Given the description of an element on the screen output the (x, y) to click on. 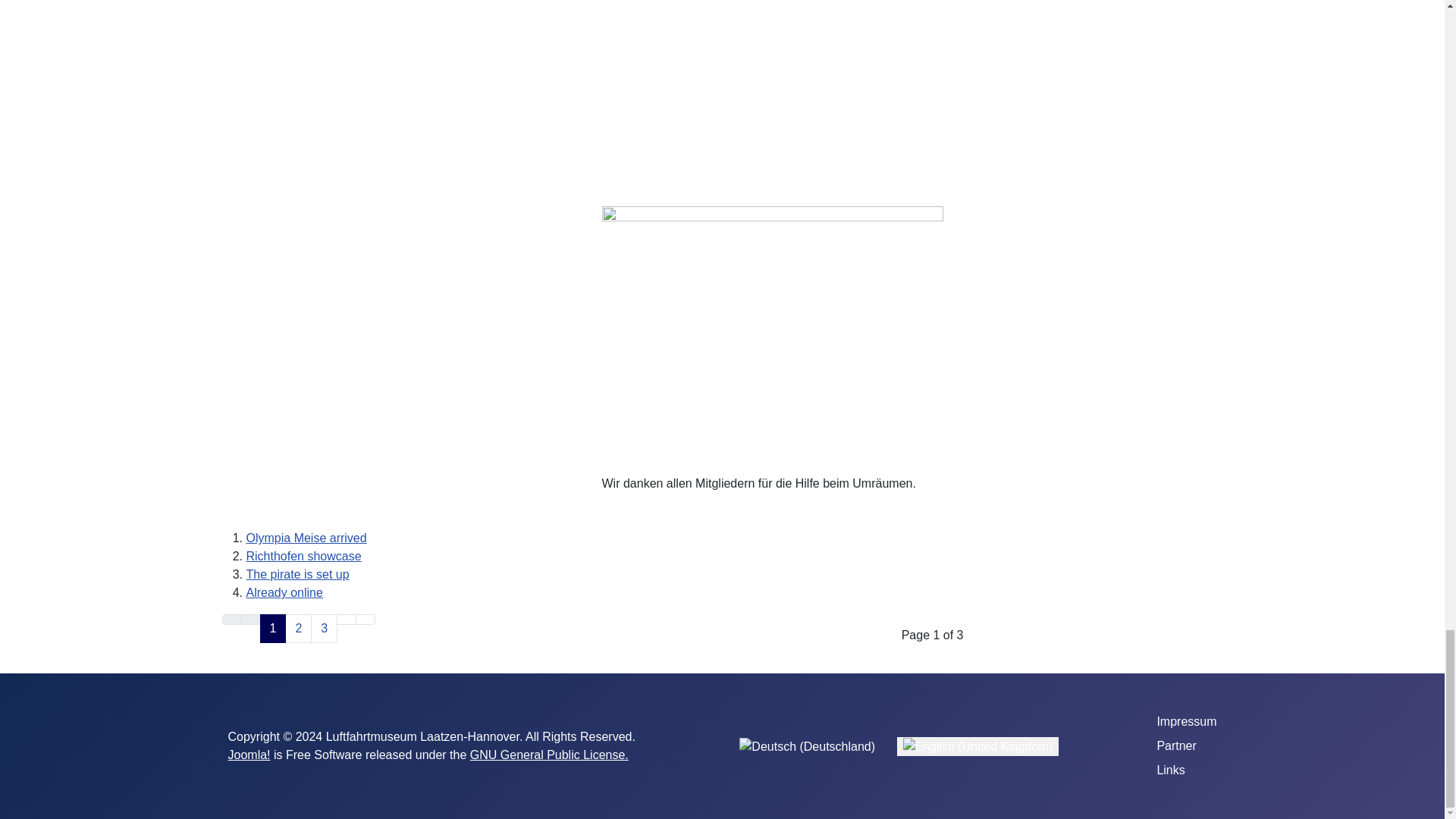
Olympia Meise arrived (306, 537)
1 (272, 628)
Richthofen showcase (303, 555)
Already online (283, 592)
The pirate is set up (297, 574)
2 (298, 628)
